Given the description of an element on the screen output the (x, y) to click on. 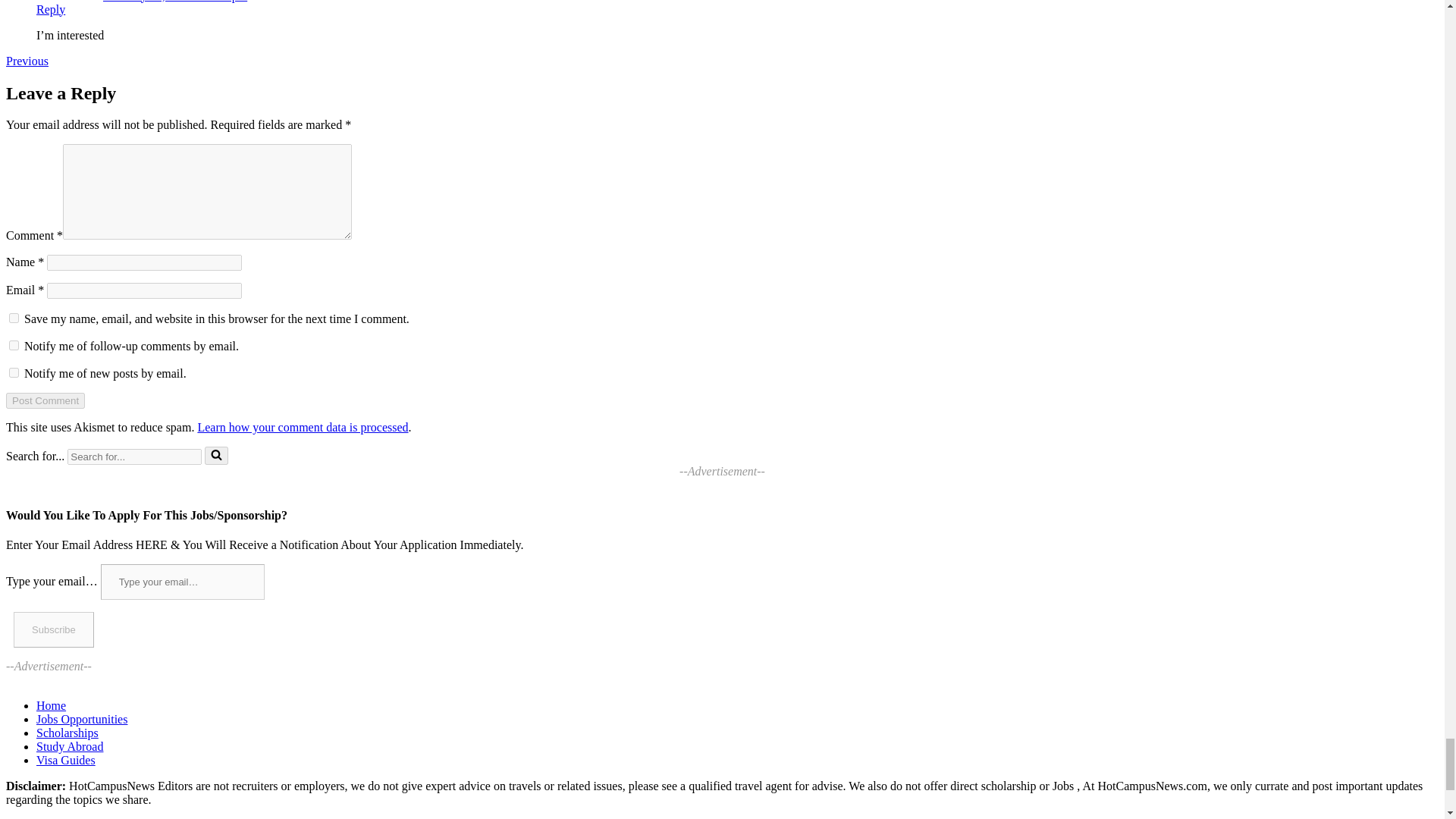
subscribe (13, 345)
yes (13, 317)
subscribe (13, 372)
Post Comment (44, 400)
